Given the description of an element on the screen output the (x, y) to click on. 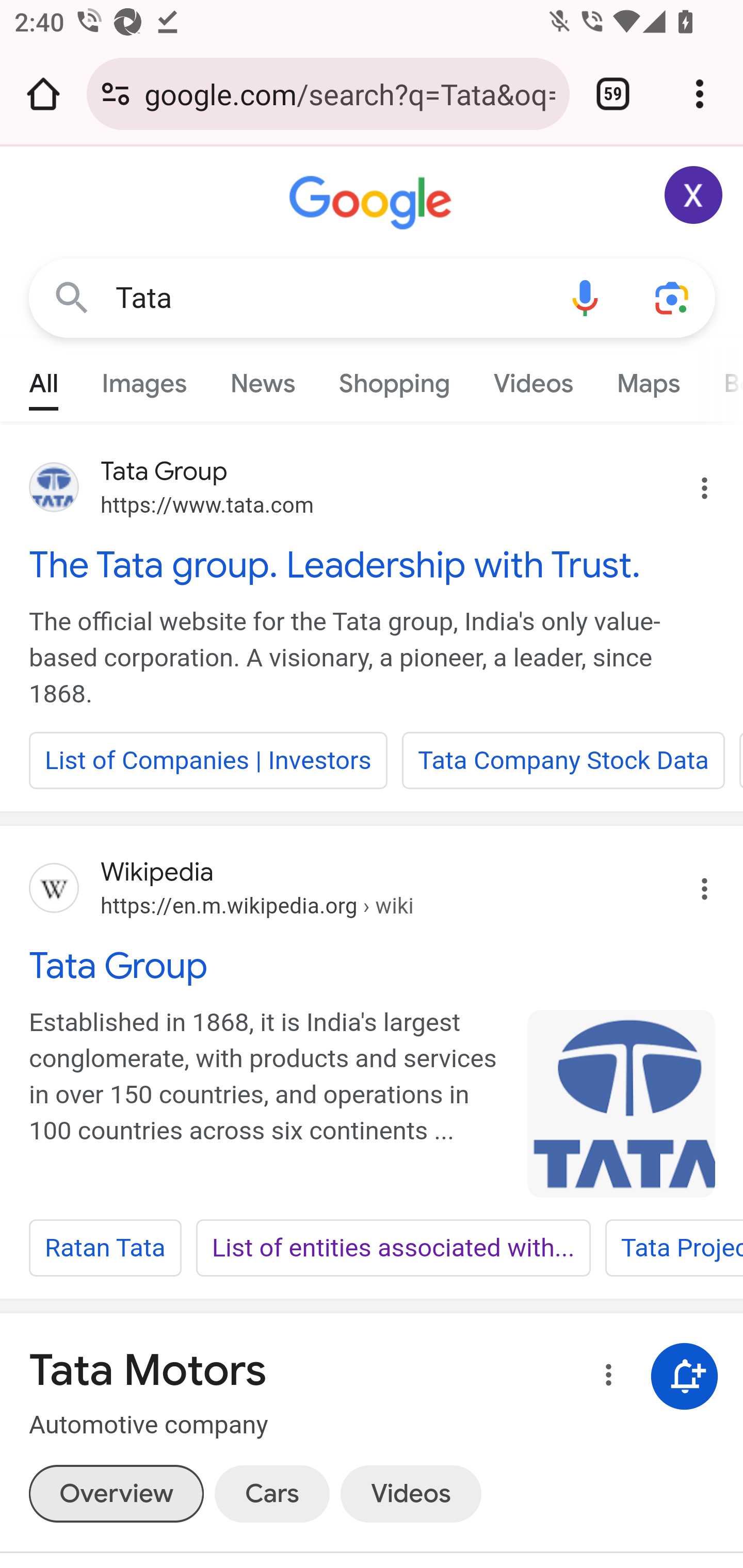
Open the home page (43, 93)
Connection is secure (115, 93)
Switch or close tabs (612, 93)
Customize and control Google Chrome (699, 93)
Google (372, 203)
Google Account: Xiaoran (zxrappiumtest@gmail.com) (694, 195)
Google Search (71, 296)
Search using your camera or photos (672, 296)
Tata (328, 297)
Images (144, 378)
News (262, 378)
Shopping (394, 378)
Videos (533, 378)
Maps (647, 378)
The Tata group. Leadership with Trust. (372, 564)
List of Companies | Investors (207, 760)
Tata Company Stock Data (563, 760)
Tata Group (372, 965)
Tata_Group (621, 1102)
Ratan Tata (105, 1247)
List of entities associated with... (393, 1247)
Tata Projects (673, 1247)
Get notifications about Tata Motors (684, 1376)
More options (605, 1378)
Overview (116, 1493)
Cars (271, 1493)
Videos (410, 1493)
